Given the description of an element on the screen output the (x, y) to click on. 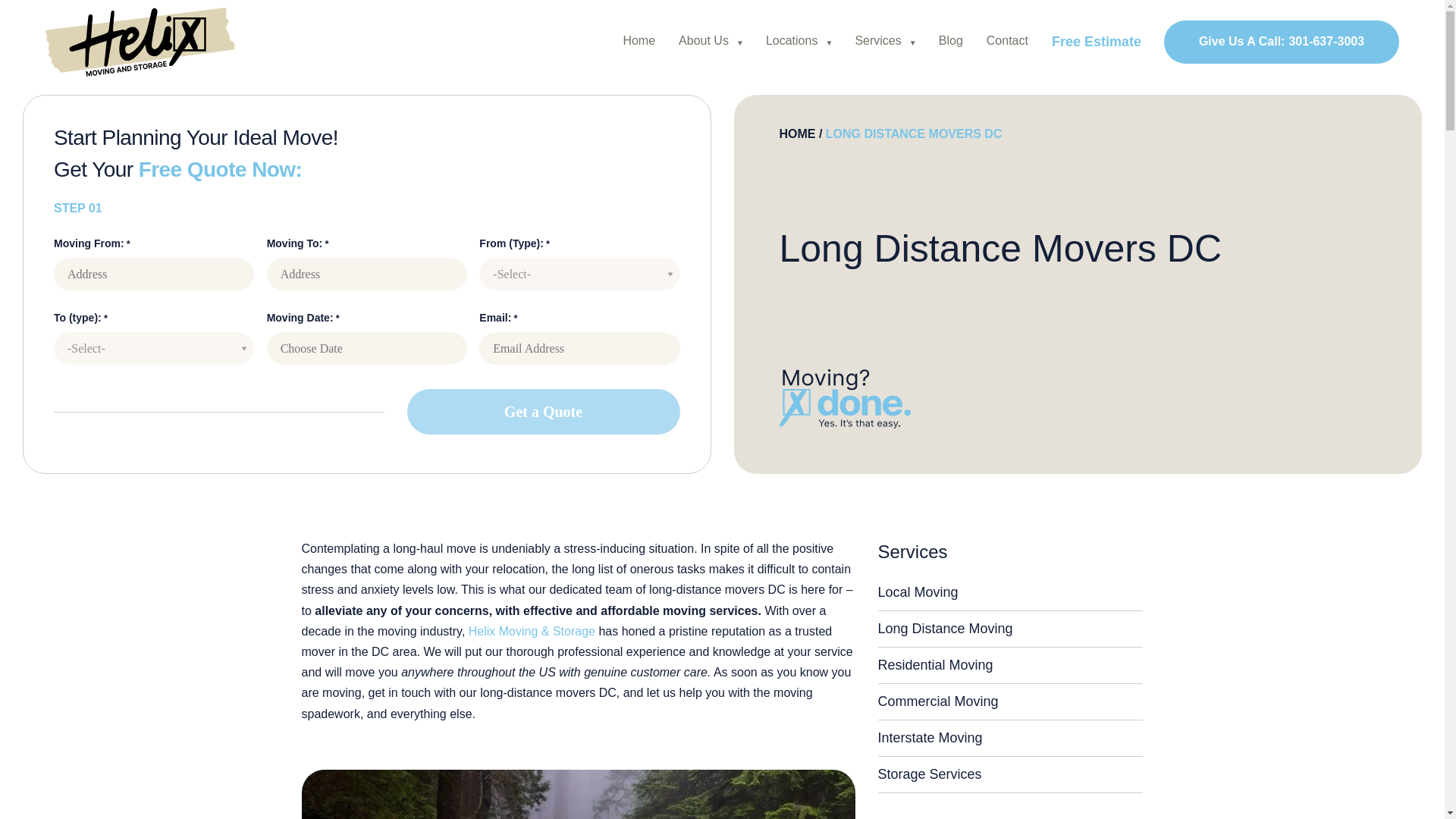
Services (877, 40)
Free Estimate (1096, 41)
Get a Quote (542, 411)
Locations (791, 40)
Contact (1281, 41)
About Us (1007, 40)
